Given the description of an element on the screen output the (x, y) to click on. 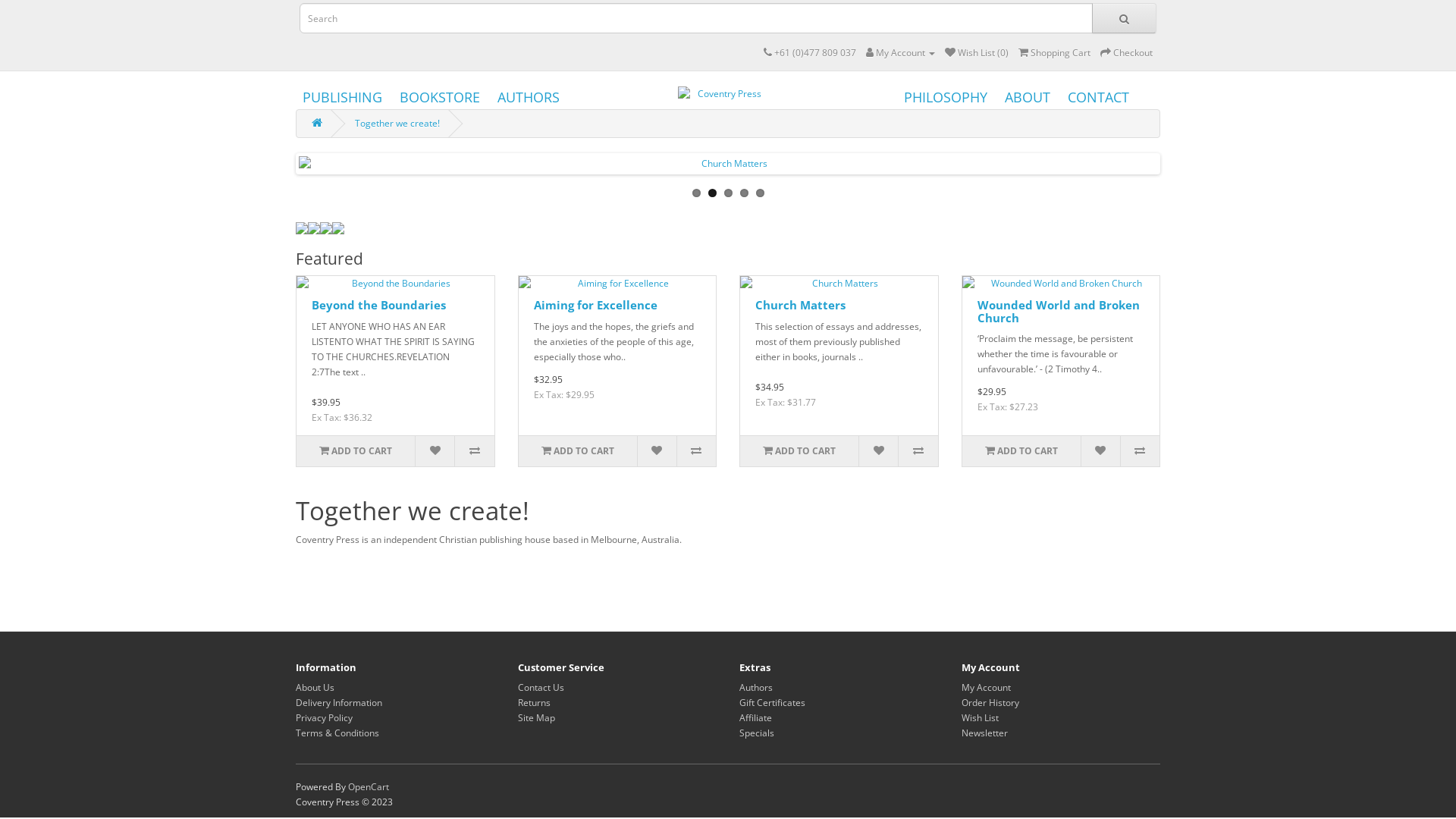
Wish List Element type: text (979, 717)
Beyond the Boundaries Element type: hover (395, 283)
ADD TO CART Element type: text (1020, 451)
Delivery Information Element type: text (338, 702)
Beyond the Boundaries Element type: text (378, 304)
Aiming for Excellence Element type: text (595, 304)
Coventry Press Element type: hover (722, 93)
BOOKSTORE Element type: text (439, 98)
Church Matters Element type: text (800, 304)
AUTHORS Element type: text (528, 98)
Church Matters Element type: hover (839, 283)
Wounded World and Broken Church Element type: text (1057, 311)
Newsletter Element type: text (984, 732)
About Us Element type: text (314, 686)
Gift Certificates Element type: text (772, 702)
Order History Element type: text (990, 702)
CONTACT Element type: text (1098, 98)
OpenCart Element type: text (368, 786)
Affiliate Element type: text (755, 717)
ADD TO CART Element type: text (355, 451)
Aiming for Excellence Element type: hover (617, 283)
My Account Element type: text (985, 686)
Together we create! Element type: text (396, 122)
Shopping Cart Element type: text (1054, 52)
PHILOSOPHY Element type: text (945, 98)
Specials Element type: text (756, 732)
Contact Us Element type: text (540, 686)
Checkout Element type: text (1126, 52)
Wish List (0) Element type: text (976, 52)
Wounded World and Broken Church Element type: hover (1060, 283)
Site Map Element type: text (535, 717)
ADD TO CART Element type: text (577, 451)
ABOUT Element type: text (1027, 98)
PUBLISHING Element type: text (342, 98)
Authors Element type: text (755, 686)
Returns Element type: text (533, 702)
Privacy Policy Element type: text (323, 717)
ADD TO CART Element type: text (799, 451)
My Account Element type: text (900, 52)
Terms & Conditions Element type: text (337, 732)
